Given the description of an element on the screen output the (x, y) to click on. 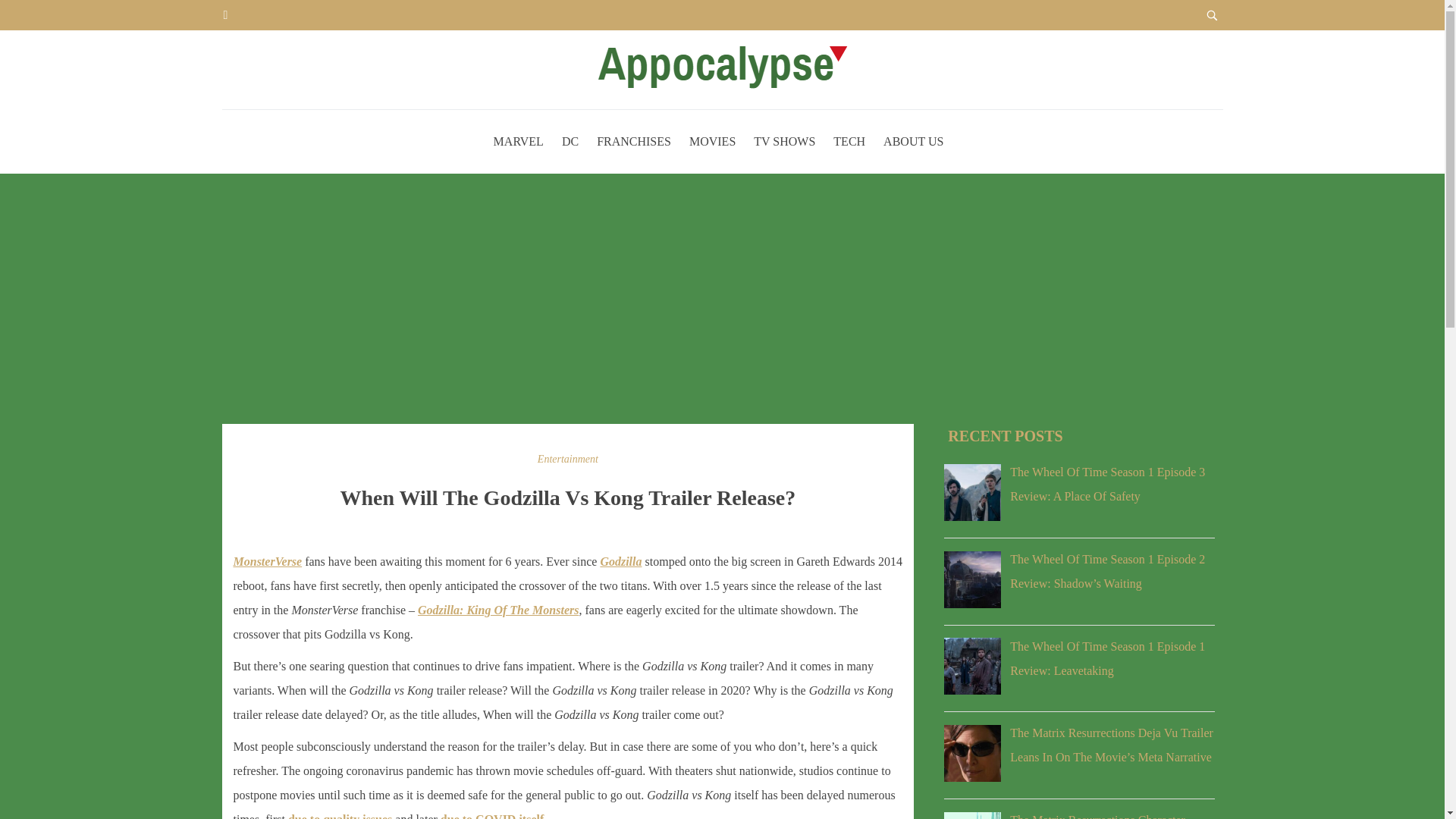
MARVEL (518, 141)
